Given the description of an element on the screen output the (x, y) to click on. 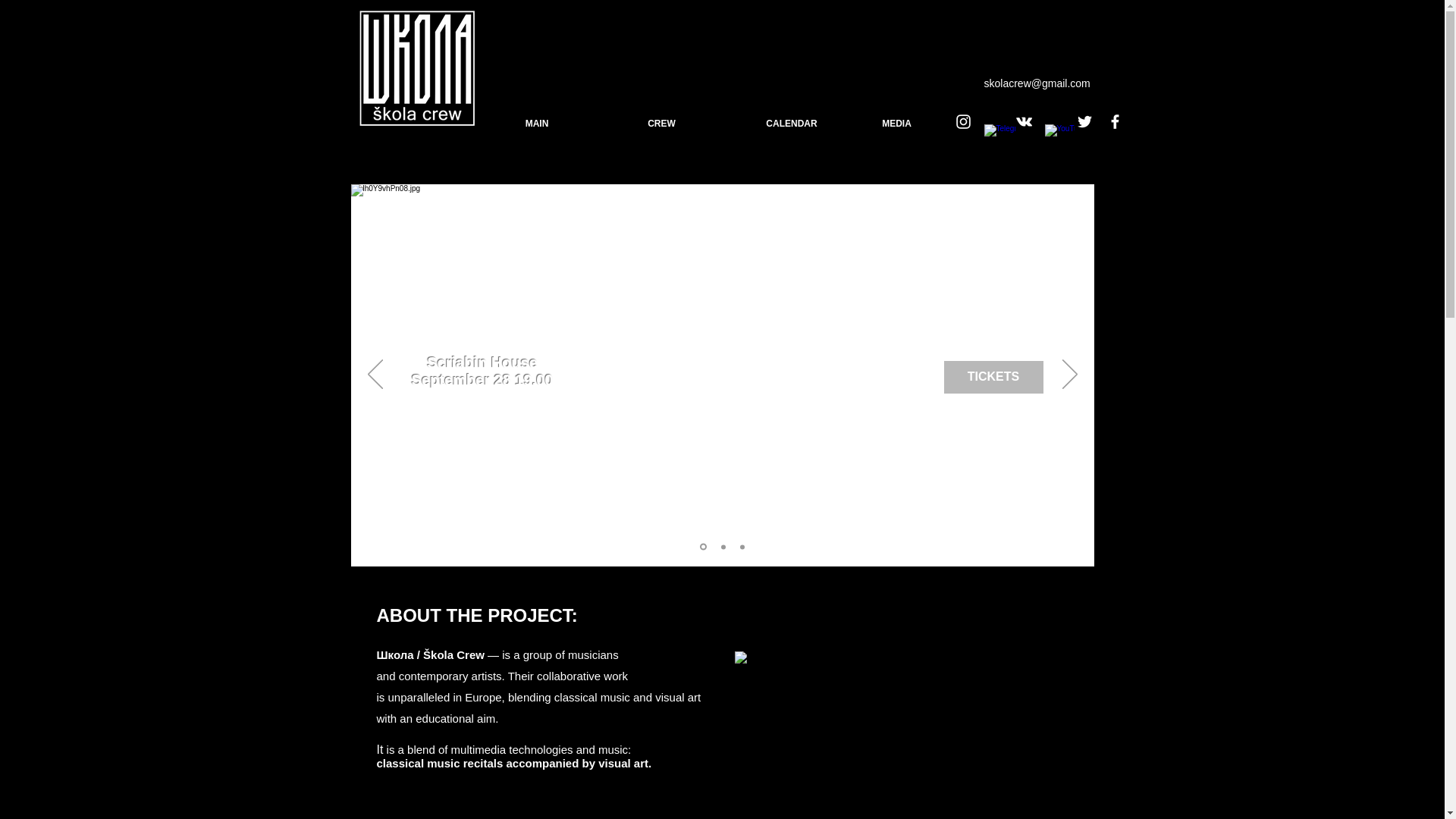
CALENDAR (790, 122)
TICKETS (993, 376)
MEDIA (896, 122)
MAIN (482, 370)
CREW (536, 122)
